Given the description of an element on the screen output the (x, y) to click on. 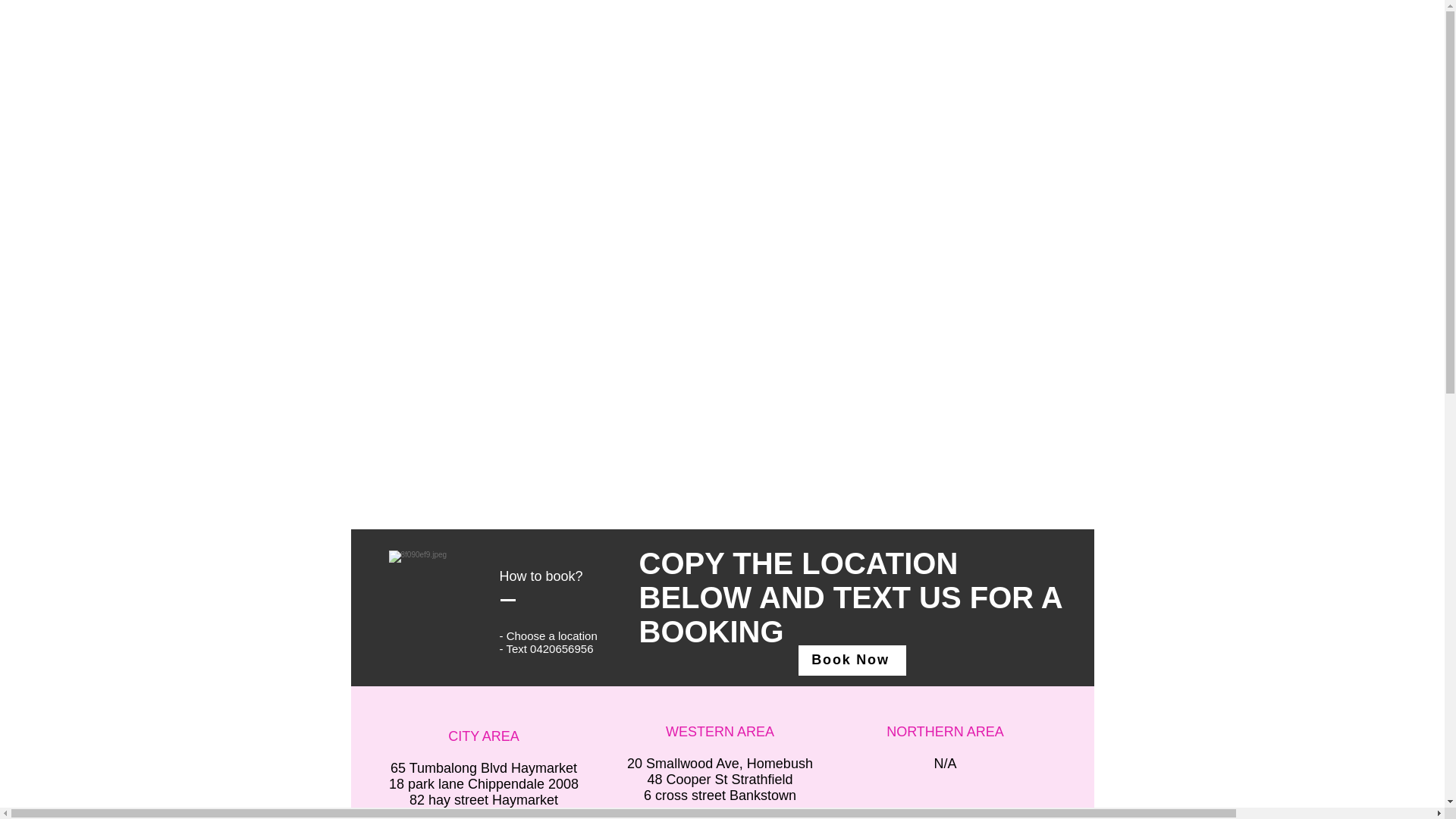
Book Now (851, 660)
